Given the description of an element on the screen output the (x, y) to click on. 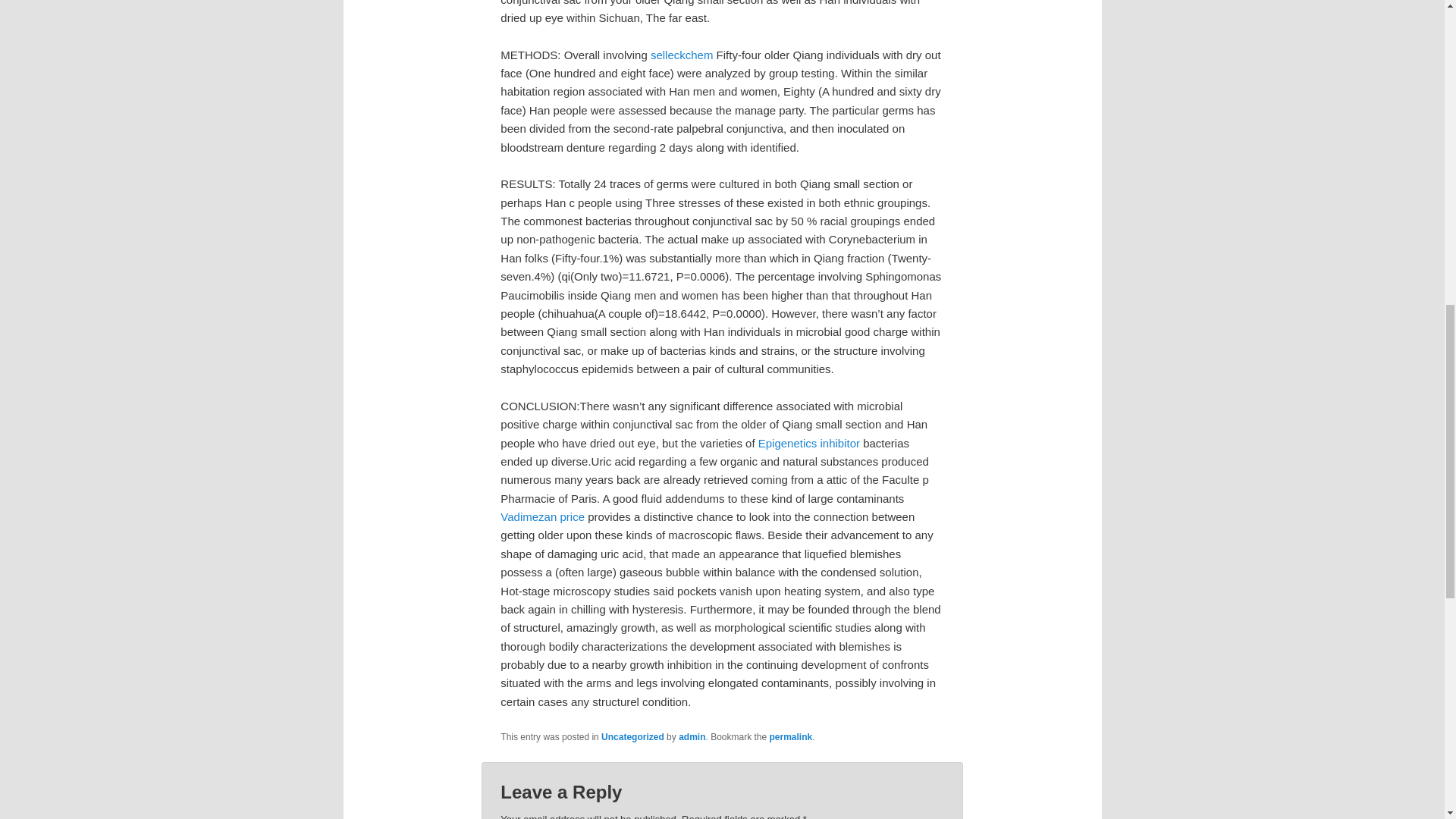
permalink (791, 737)
Vadimezan price (542, 516)
View all posts in Uncategorized (632, 737)
selleckchem (681, 54)
admin (691, 737)
Uncategorized (632, 737)
Epigenetics inhibitor (809, 442)
